Given the description of an element on the screen output the (x, y) to click on. 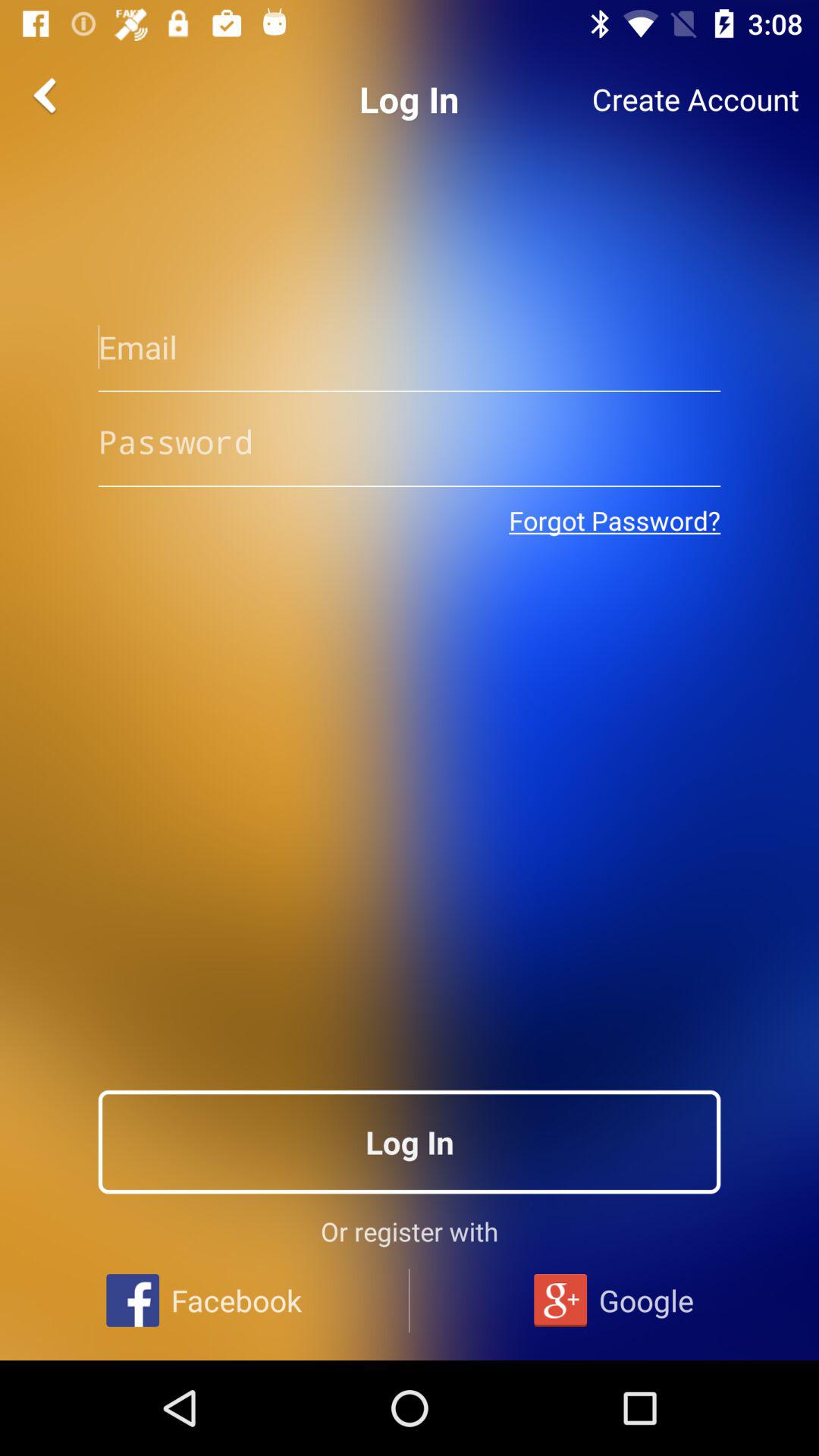
open the create account item (695, 99)
